Given the description of an element on the screen output the (x, y) to click on. 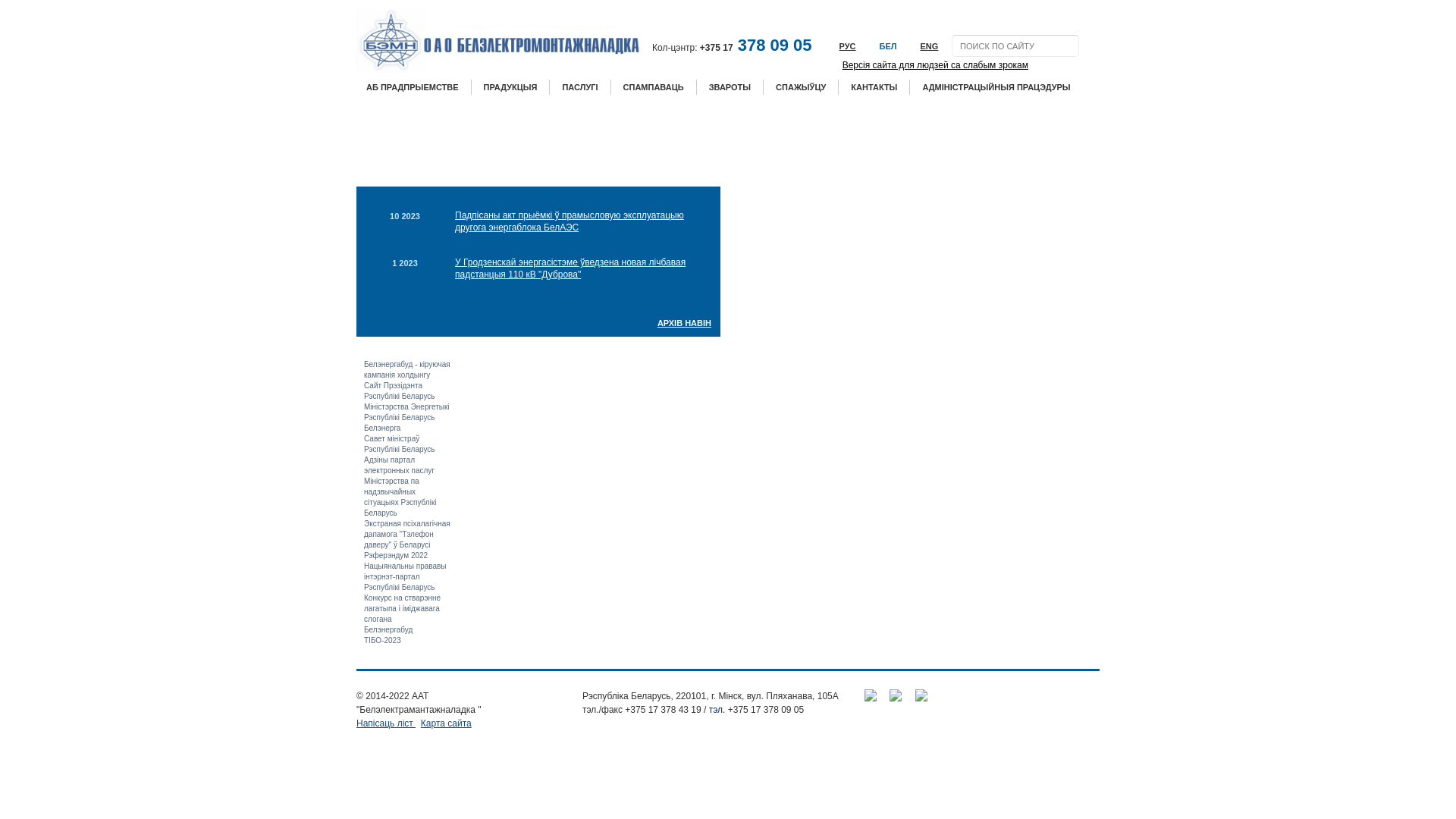
ENG Element type: text (921, 46)
